Given the description of an element on the screen output the (x, y) to click on. 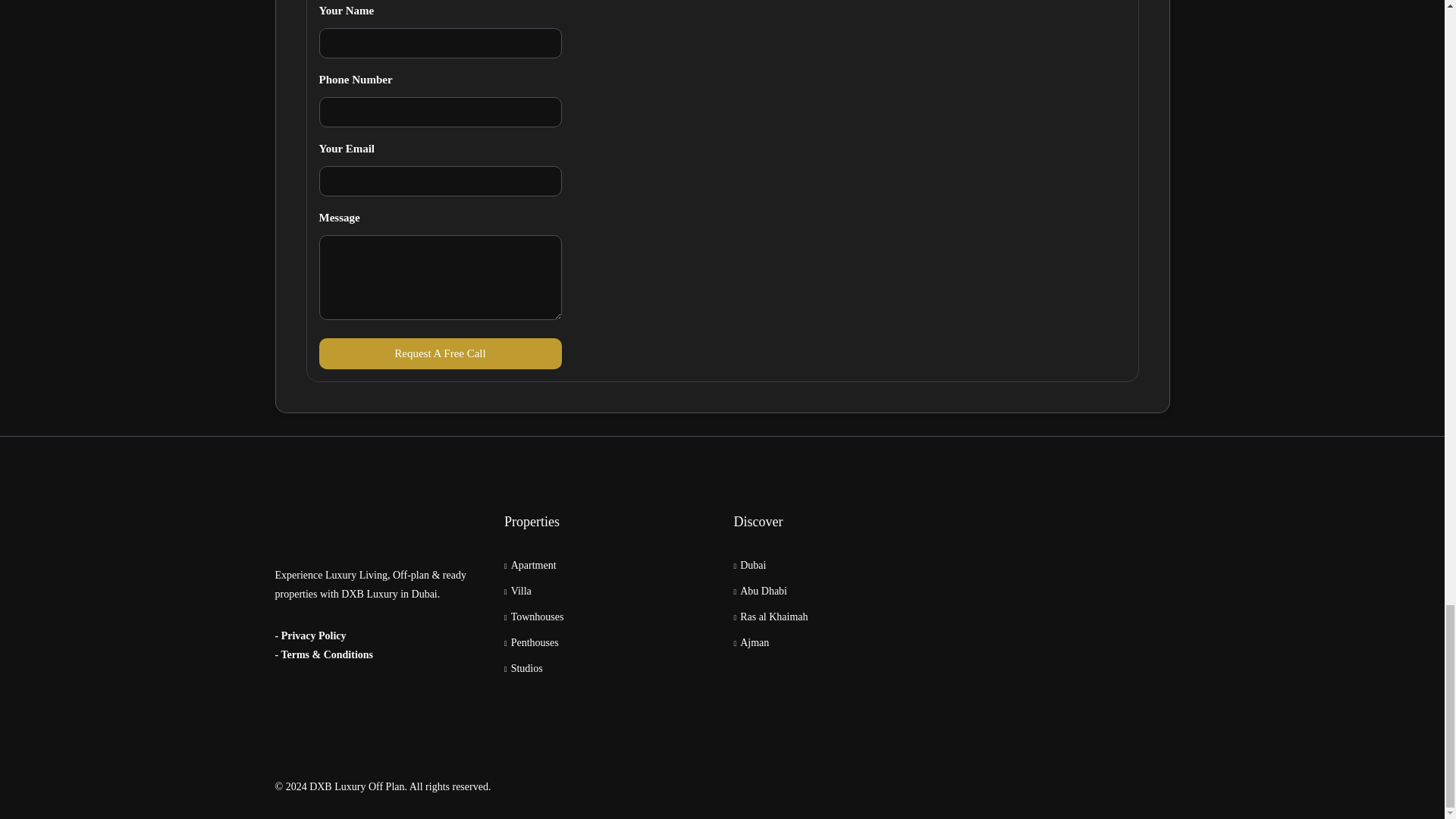
Request A Free Call (439, 353)
